Given the description of an element on the screen output the (x, y) to click on. 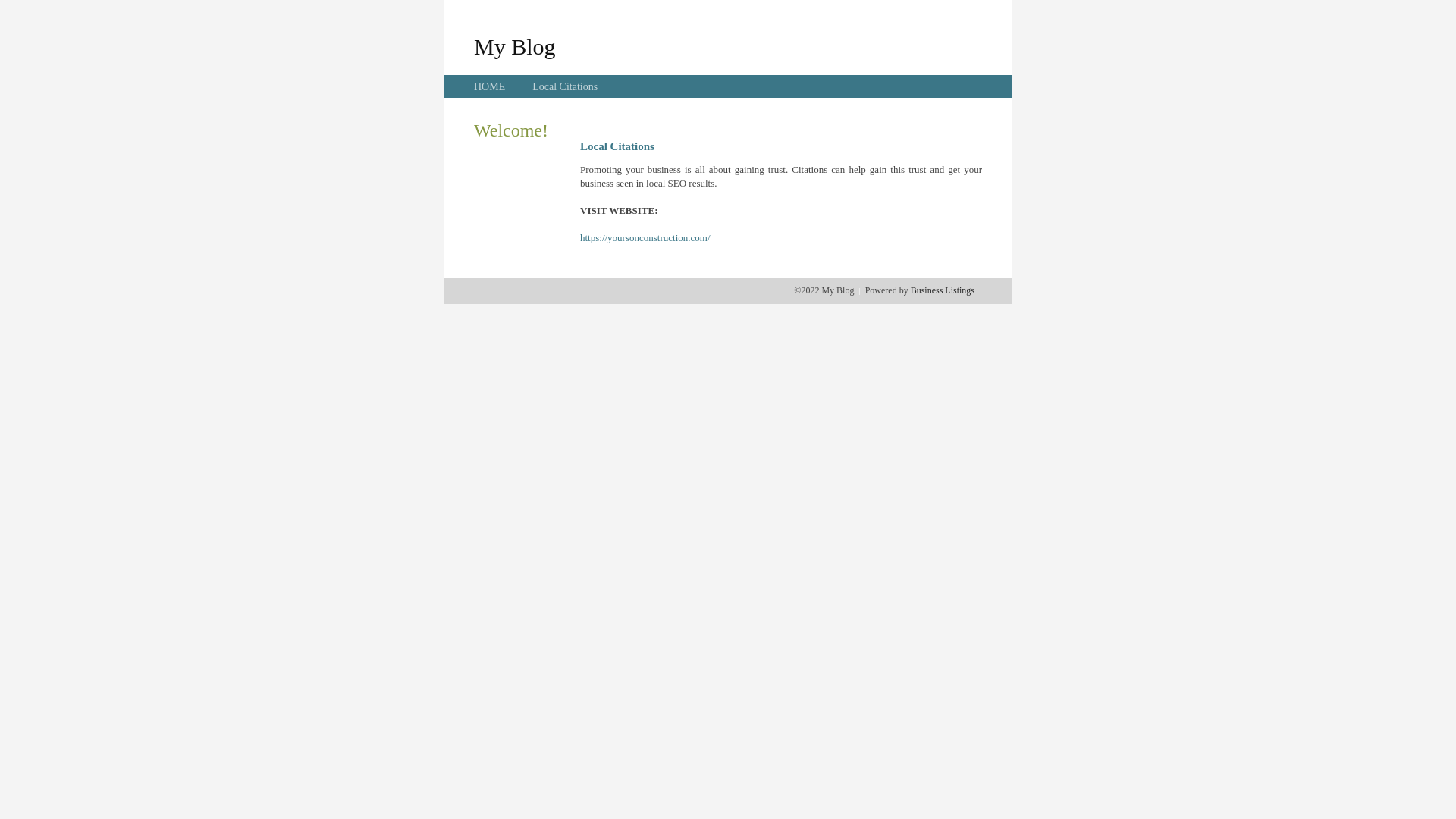
Business Listings Element type: text (942, 290)
My Blog Element type: text (514, 46)
HOME Element type: text (489, 86)
Local Citations Element type: text (564, 86)
https://yoursonconstruction.com/ Element type: text (645, 237)
